Given the description of an element on the screen output the (x, y) to click on. 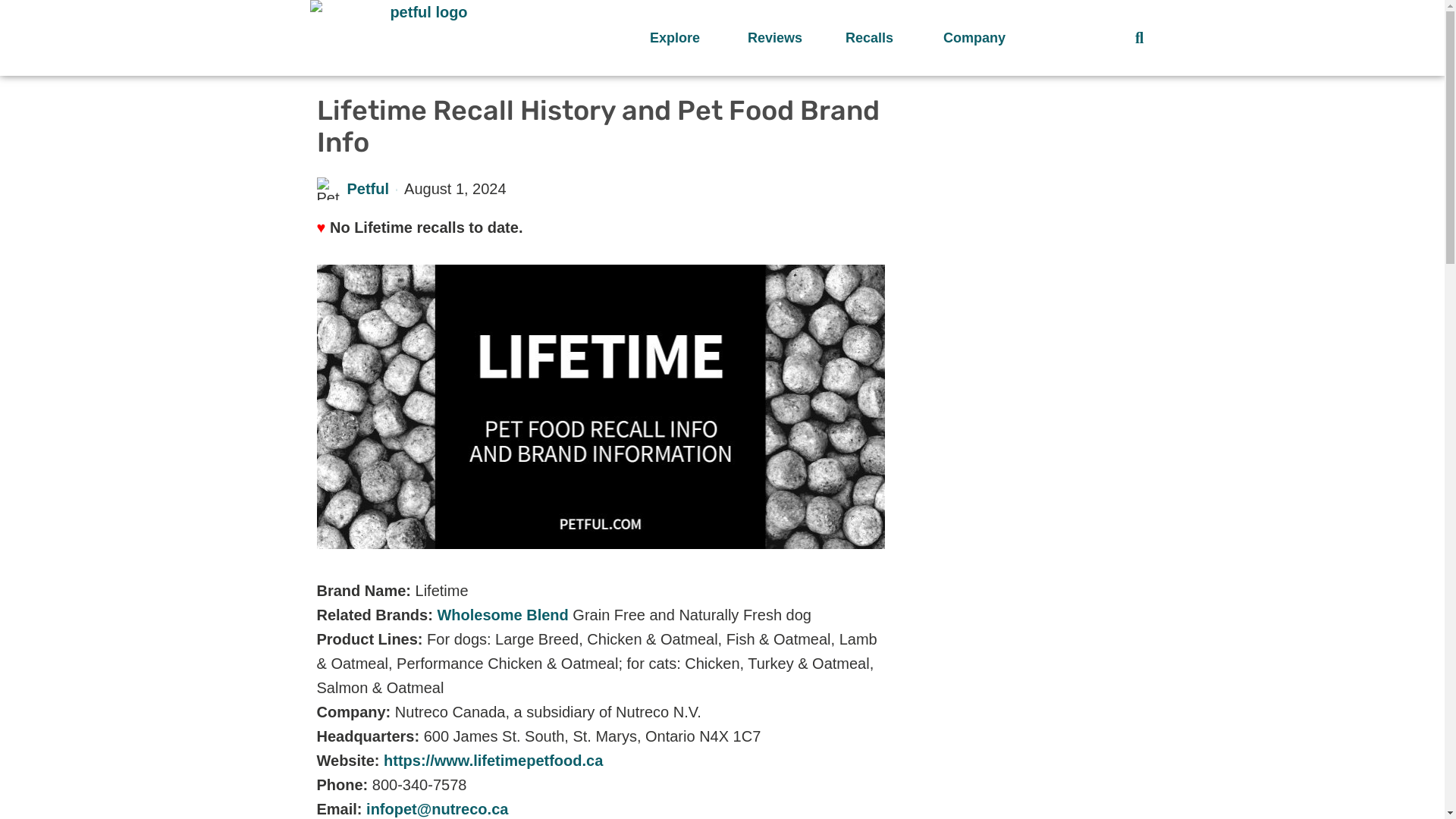
Reviews (780, 38)
Company (977, 38)
Recalls (878, 38)
Explore (683, 38)
